Given the description of an element on the screen output the (x, y) to click on. 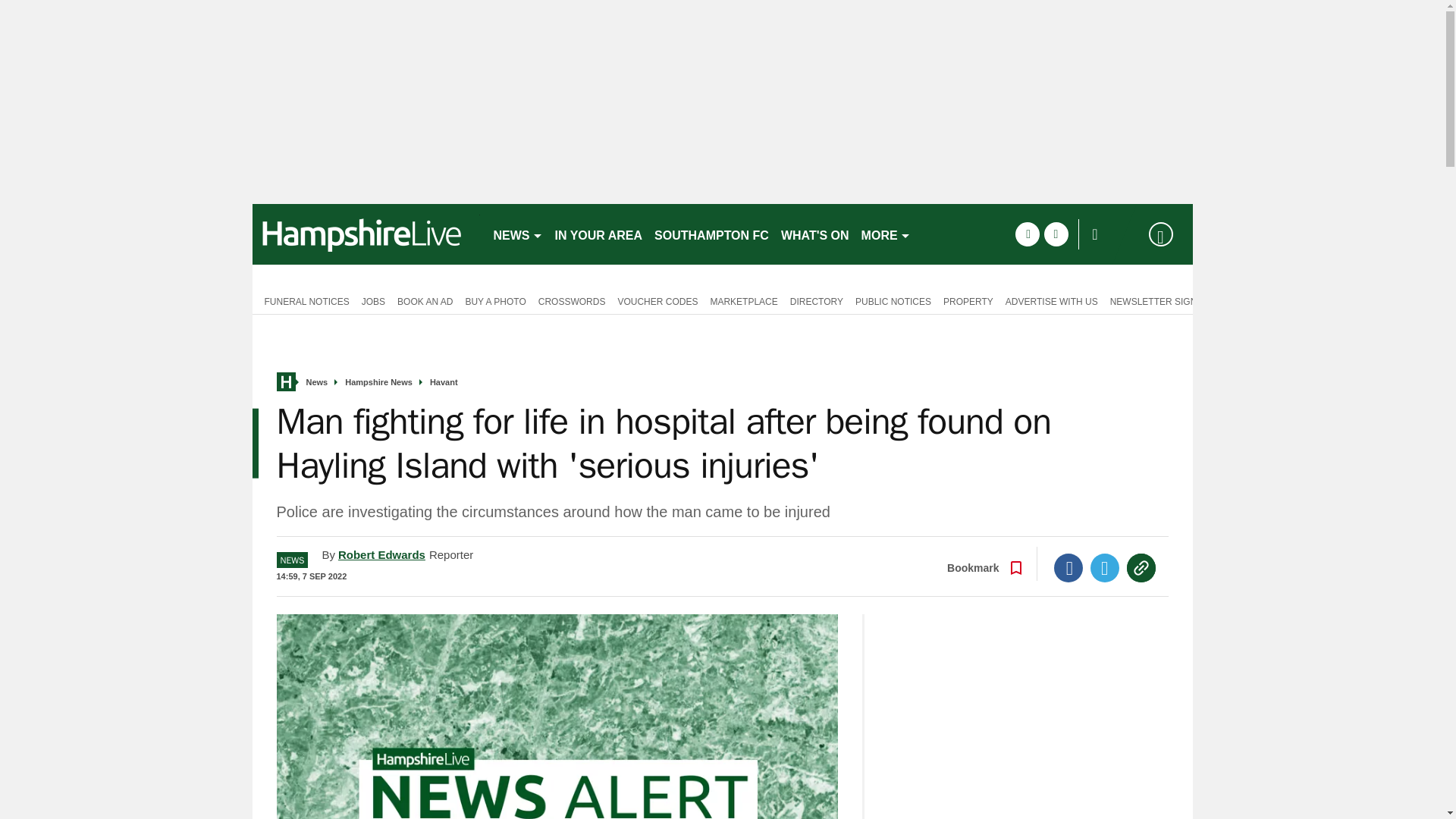
Home (285, 381)
CROSSWORDS (571, 300)
FUNERAL NOTICES (303, 300)
hampshirelive (365, 233)
MARKETPLACE (743, 300)
Hampshire News (378, 382)
MORE (886, 233)
News (317, 382)
WHAT'S ON (815, 233)
facebook (1026, 233)
